Given the description of an element on the screen output the (x, y) to click on. 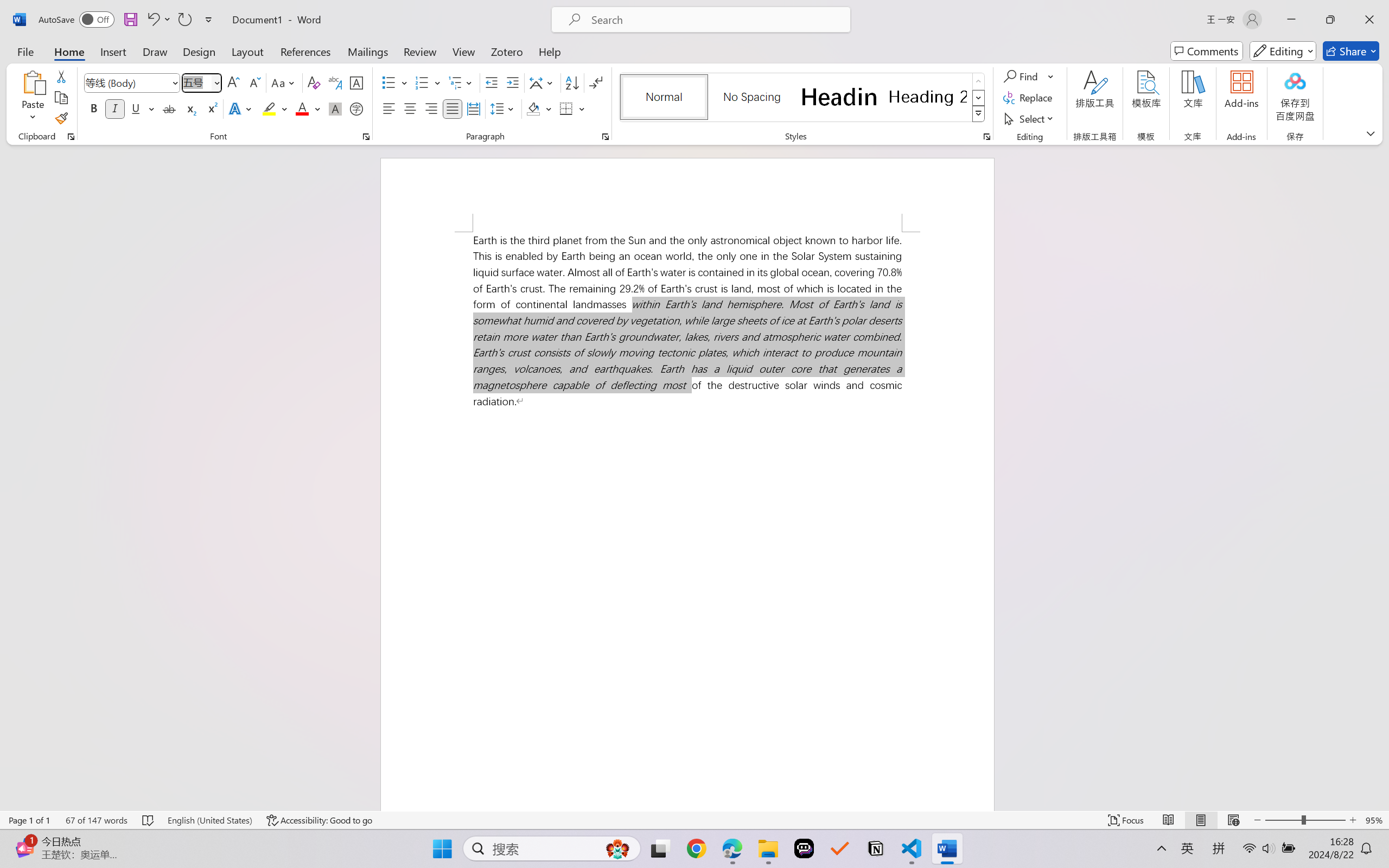
Shrink Font (253, 82)
Undo Italic (158, 19)
Cut (60, 75)
Superscript (210, 108)
Align Right (431, 108)
Asian Layout (542, 82)
